Given the description of an element on the screen output the (x, y) to click on. 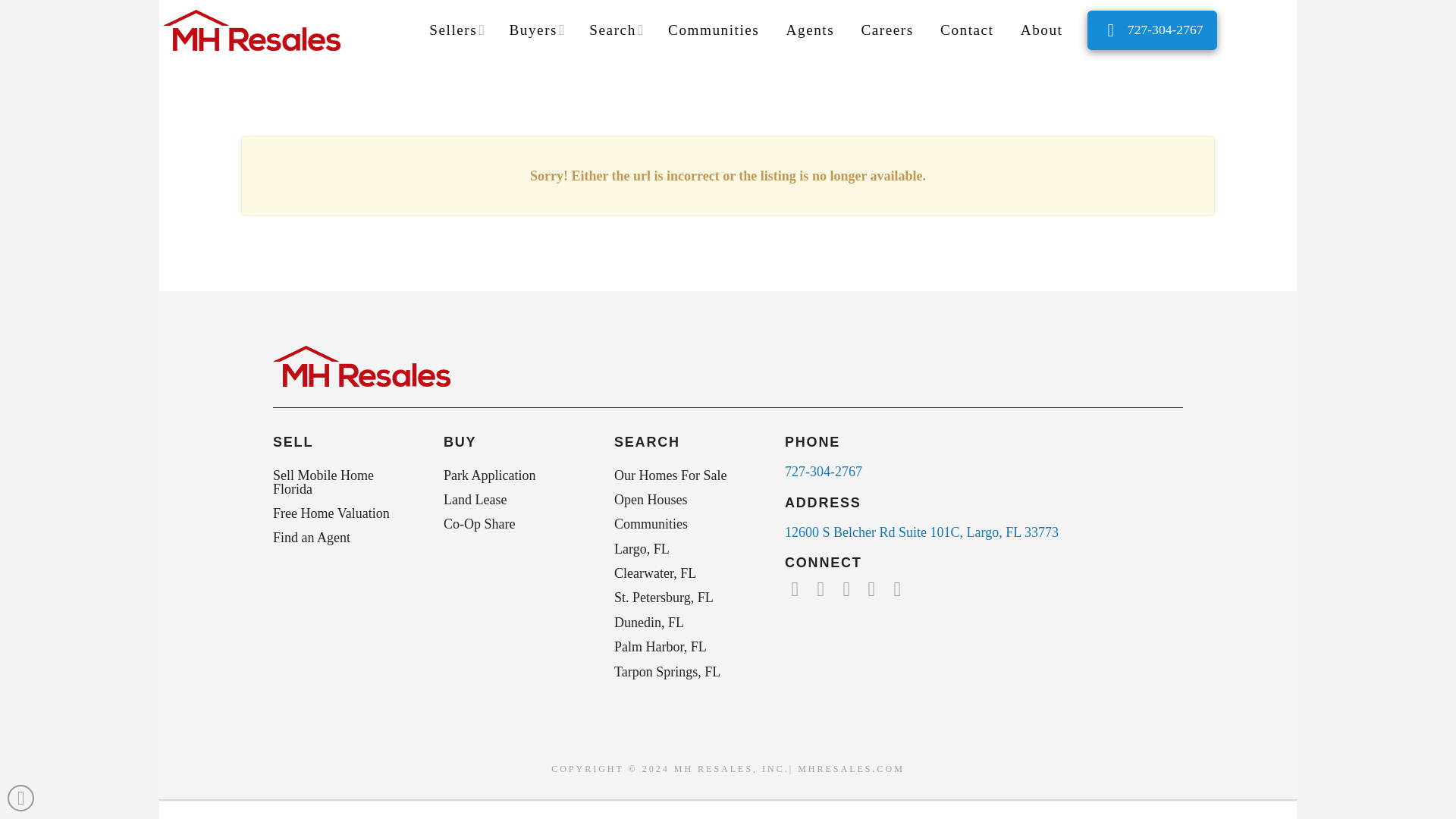
Clearwater, FL (685, 573)
Agents (809, 30)
Buyers (535, 30)
Dunedin, FL (685, 622)
Back to Top (20, 797)
About (1040, 30)
Free Home Valuation (344, 513)
Careers (886, 30)
Largo, FL (685, 549)
Sell Mobile Home Florida (344, 481)
